Given the description of an element on the screen output the (x, y) to click on. 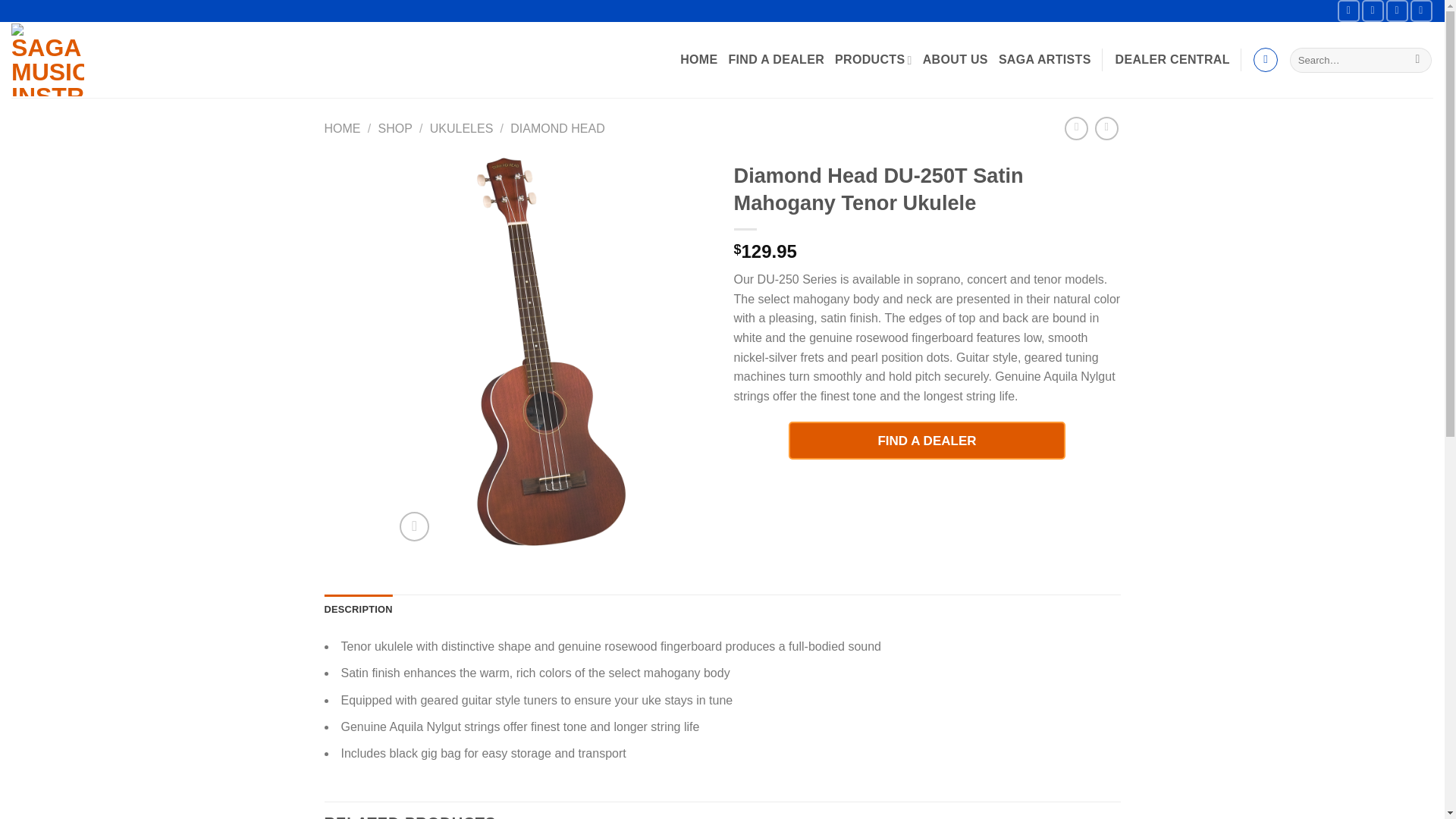
Search (1417, 60)
Cart (1265, 59)
Follow on Facebook (1348, 11)
PRODUCTS (873, 60)
UKULELES (461, 128)
HOME (698, 59)
Saga Musical Instruments (163, 59)
LOGIN (1171, 59)
Login (1171, 59)
ABOUT US (955, 59)
SAGA ARTISTS (1044, 59)
HOME (342, 128)
Follow on Twitter (1396, 11)
FIND A DEALER (777, 59)
DIAMOND HEAD (557, 128)
